Given the description of an element on the screen output the (x, y) to click on. 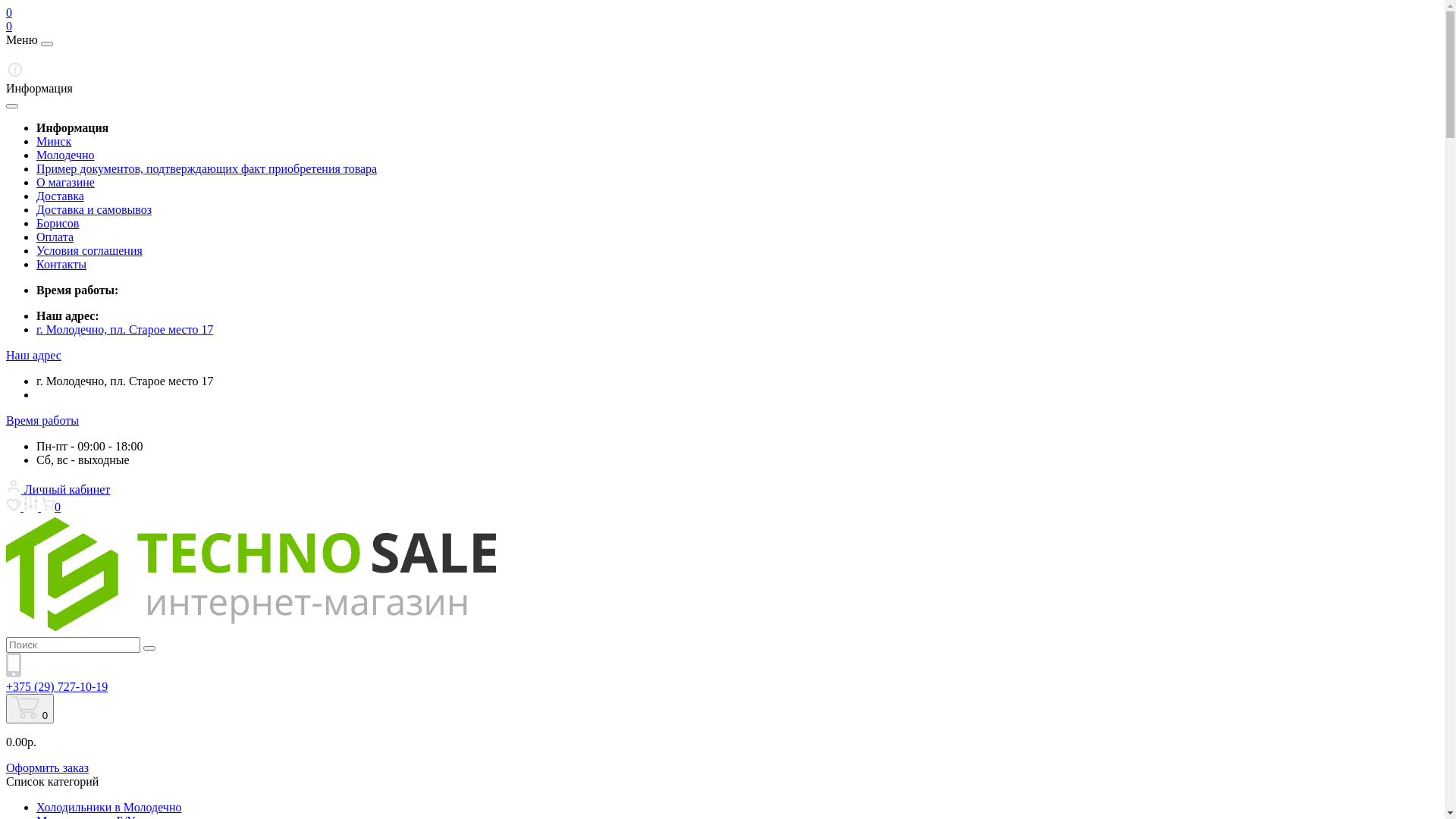
0 Element type: text (9, 25)
0 Element type: text (50, 506)
+375 (29) 727-10-19 Element type: text (56, 686)
0 Element type: text (9, 12)
0 Element type: text (29, 708)
